Given the description of an element on the screen output the (x, y) to click on. 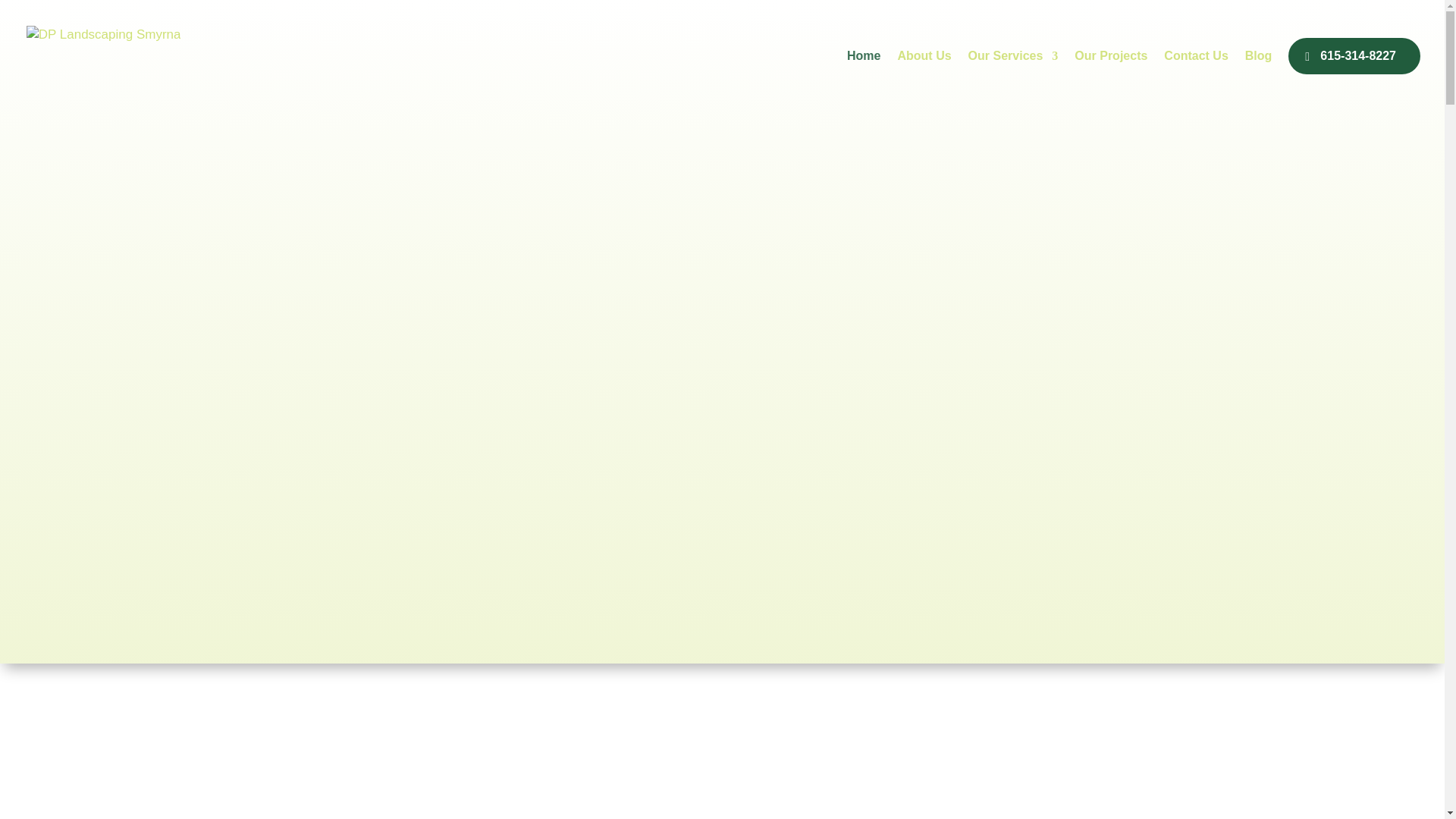
Our Services (1013, 74)
Contact Us (1195, 74)
Our Projects (1110, 74)
615-314-8227 (1354, 55)
About Us (923, 74)
